Given the description of an element on the screen output the (x, y) to click on. 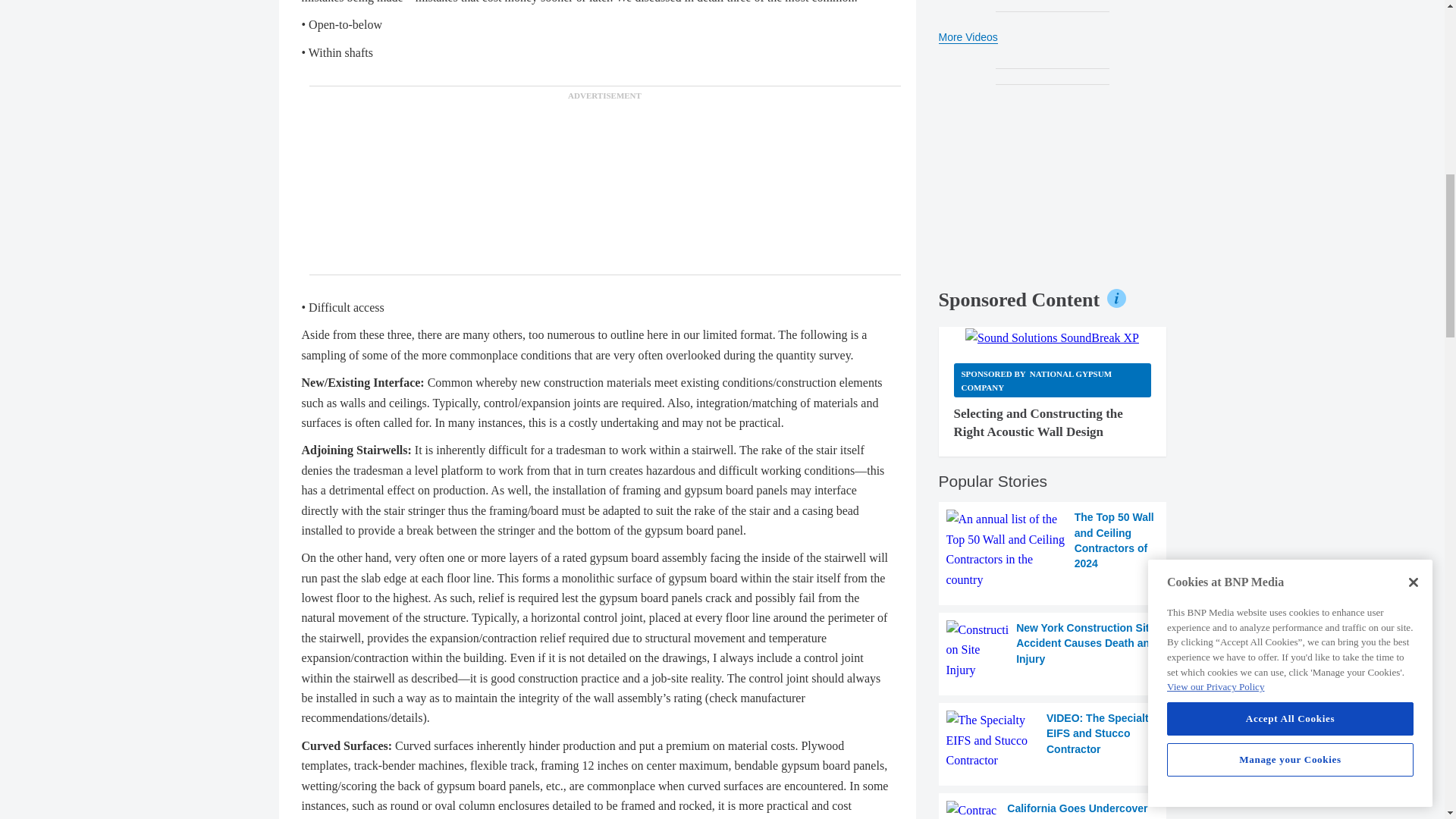
The Top 50 Wall and Ceiling Contractors of 2024 (1052, 549)
Sponsored by National Gypsum Company (1052, 380)
New York Construction Site Accident Causes Death and Injury (1052, 649)
Sound Solutions SoundBreak XP (1051, 338)
VIDEO: The Specialty EIFS and Stucco Contractor (1052, 740)
California Goes Undercover to Catch Unlicensed Contractors (1052, 809)
